Given the description of an element on the screen output the (x, y) to click on. 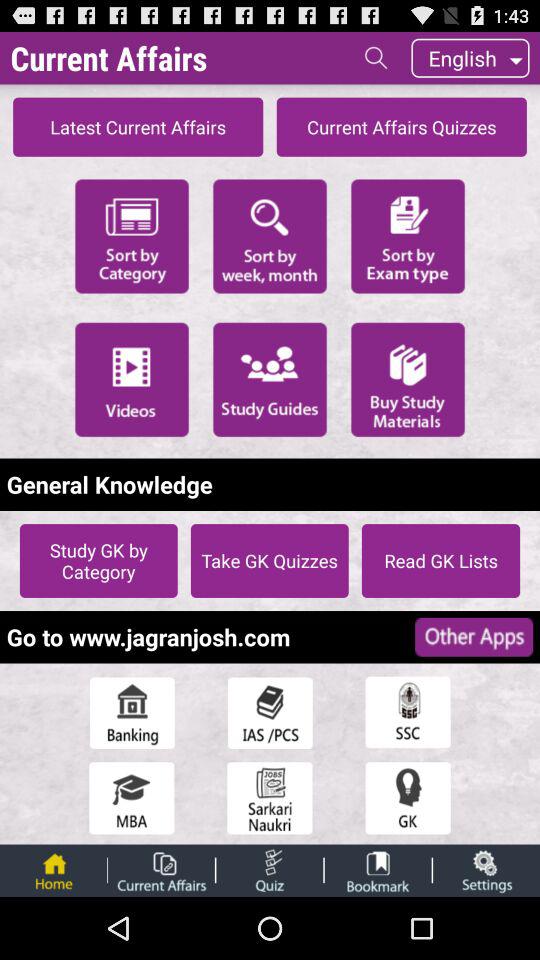
bookmark this page (378, 870)
